Given the description of an element on the screen output the (x, y) to click on. 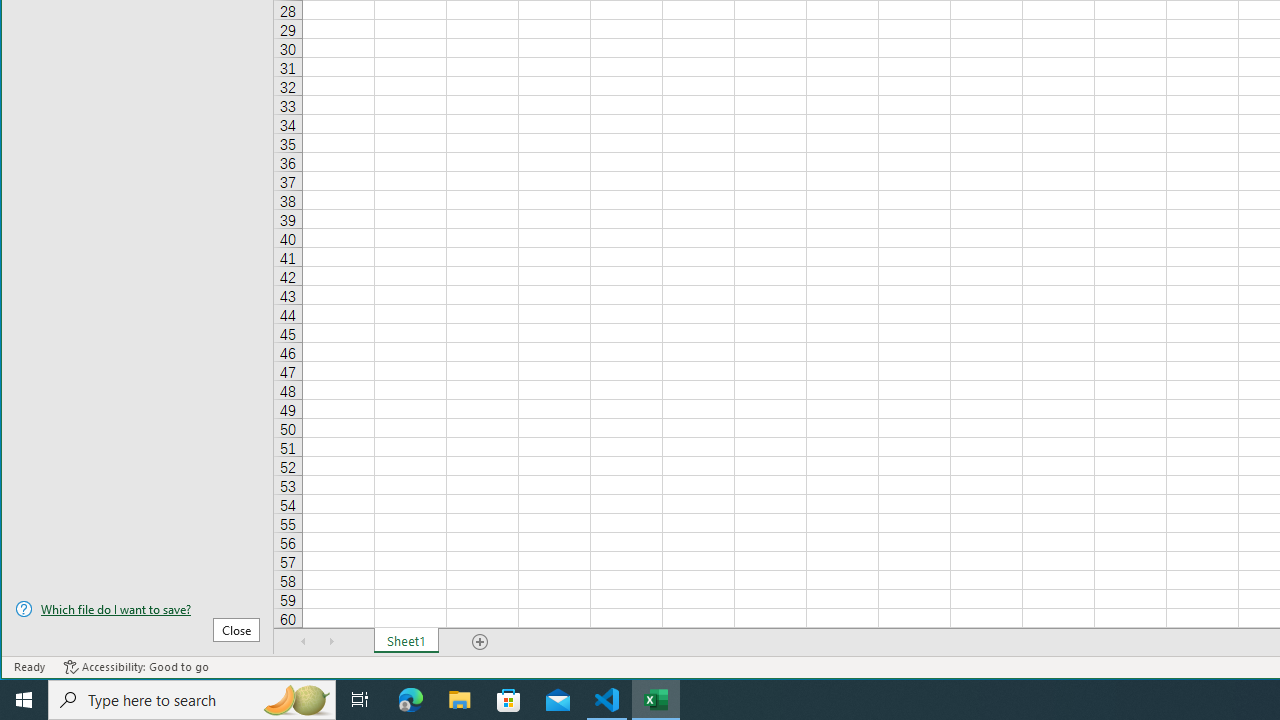
Microsoft Store (509, 699)
Microsoft Edge (411, 699)
Visual Studio Code - 1 running window (607, 699)
File Explorer (460, 699)
Type here to search (191, 699)
Which file do I want to save? (137, 609)
Task View (359, 699)
Excel - 1 running window (656, 699)
Search highlights icon opens search home window (295, 699)
